Given the description of an element on the screen output the (x, y) to click on. 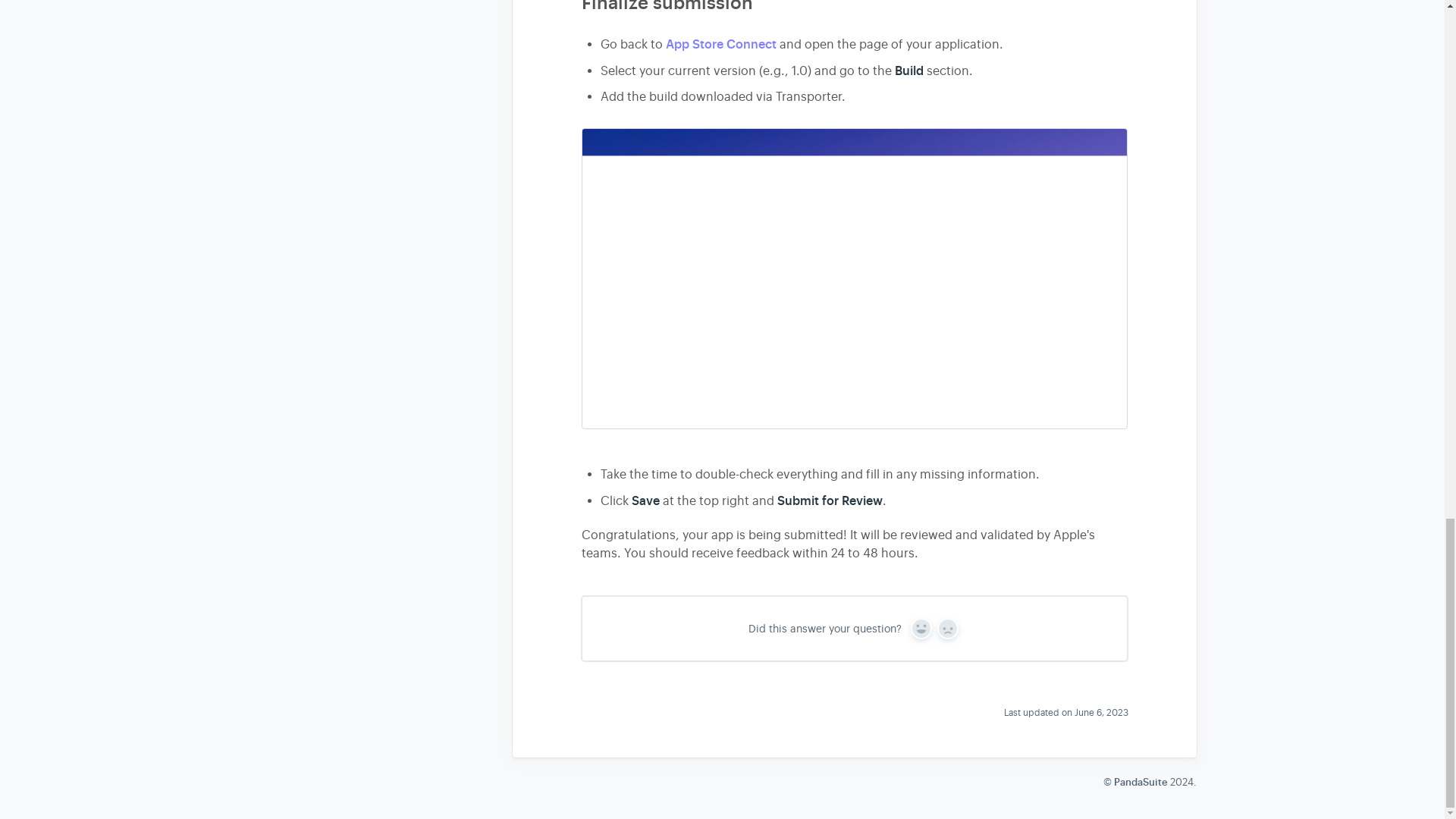
No (947, 628)
App Store Connect (720, 44)
PandaSuite (1140, 781)
Yes (921, 628)
